Given the description of an element on the screen output the (x, y) to click on. 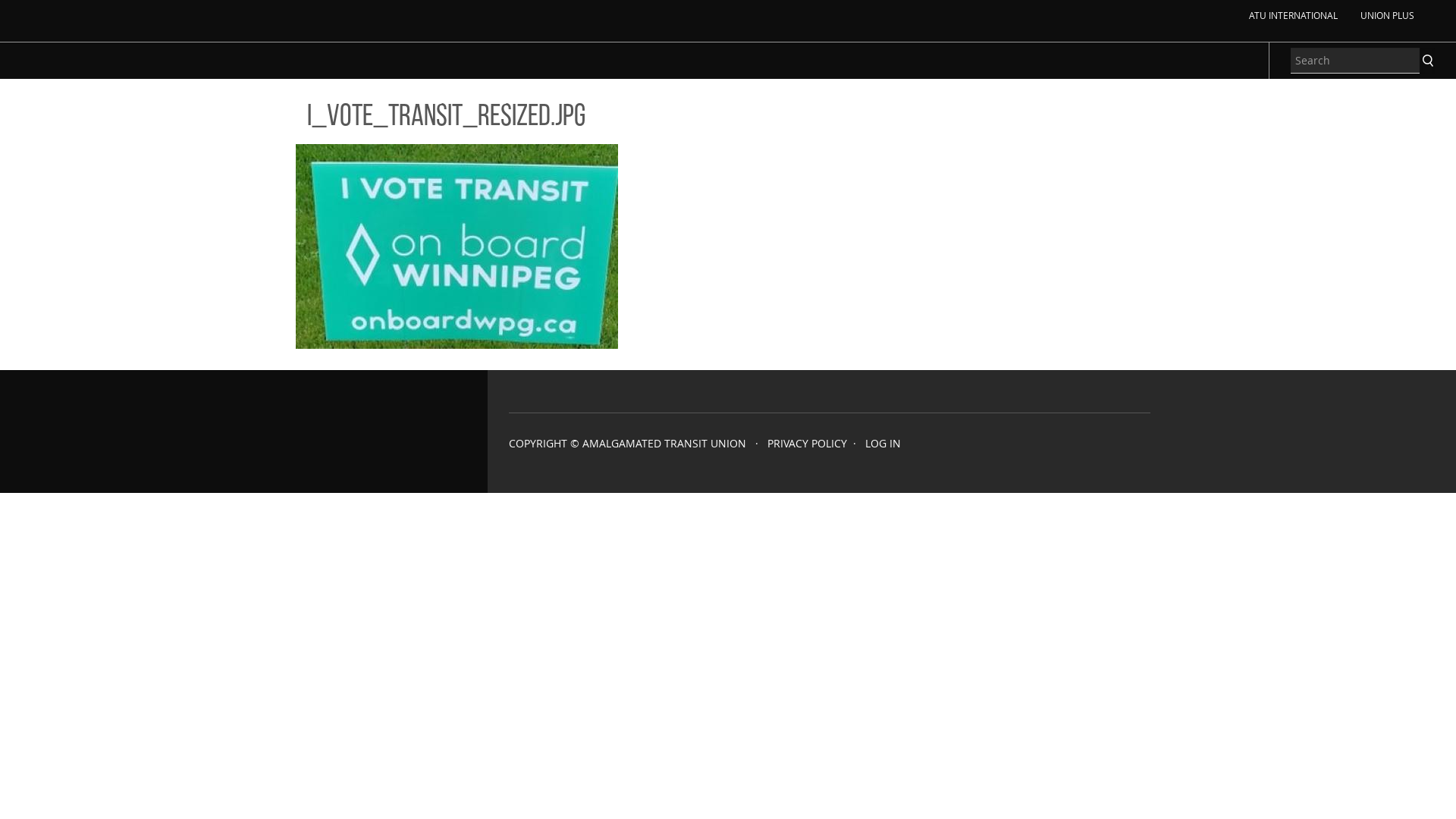
LOG IN Element type: text (882, 443)
ATU INTERNATIONAL Element type: text (1290, 15)
PRIVACY POLICY Element type: text (807, 443)
UNION PLUS Element type: text (1384, 15)
Skip to main content Element type: text (52, 0)
Search Element type: text (1427, 60)
